Given the description of an element on the screen output the (x, y) to click on. 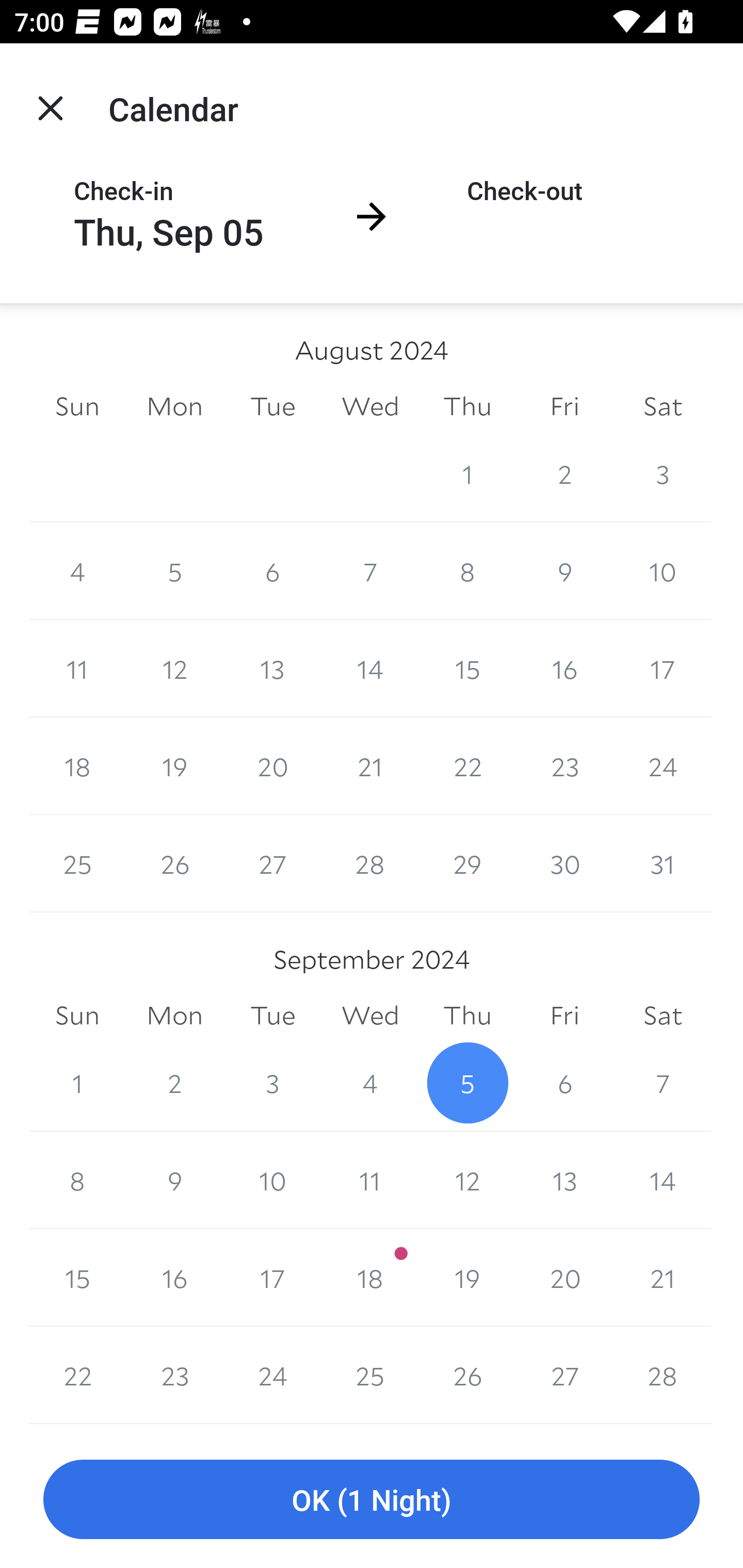
Sun (77, 405)
Mon (174, 405)
Tue (272, 405)
Wed (370, 405)
Thu (467, 405)
Fri (564, 405)
Sat (662, 405)
1 1 August 2024 (467, 473)
2 2 August 2024 (564, 473)
3 3 August 2024 (662, 473)
4 4 August 2024 (77, 570)
5 5 August 2024 (174, 570)
6 6 August 2024 (272, 570)
7 7 August 2024 (370, 570)
8 8 August 2024 (467, 570)
9 9 August 2024 (564, 570)
10 10 August 2024 (662, 570)
11 11 August 2024 (77, 668)
12 12 August 2024 (174, 668)
13 13 August 2024 (272, 668)
14 14 August 2024 (370, 668)
15 15 August 2024 (467, 668)
16 16 August 2024 (564, 668)
17 17 August 2024 (662, 668)
18 18 August 2024 (77, 766)
19 19 August 2024 (174, 766)
20 20 August 2024 (272, 766)
21 21 August 2024 (370, 766)
22 22 August 2024 (467, 766)
23 23 August 2024 (564, 766)
24 24 August 2024 (662, 766)
25 25 August 2024 (77, 863)
26 26 August 2024 (174, 863)
27 27 August 2024 (272, 863)
28 28 August 2024 (370, 863)
29 29 August 2024 (467, 863)
30 30 August 2024 (564, 863)
31 31 August 2024 (662, 863)
Sun (77, 1015)
Mon (174, 1015)
Tue (272, 1015)
Wed (370, 1015)
Thu (467, 1015)
Fri (564, 1015)
Sat (662, 1015)
1 1 September 2024 (77, 1083)
2 2 September 2024 (174, 1083)
3 3 September 2024 (272, 1083)
4 4 September 2024 (370, 1083)
